Given the description of an element on the screen output the (x, y) to click on. 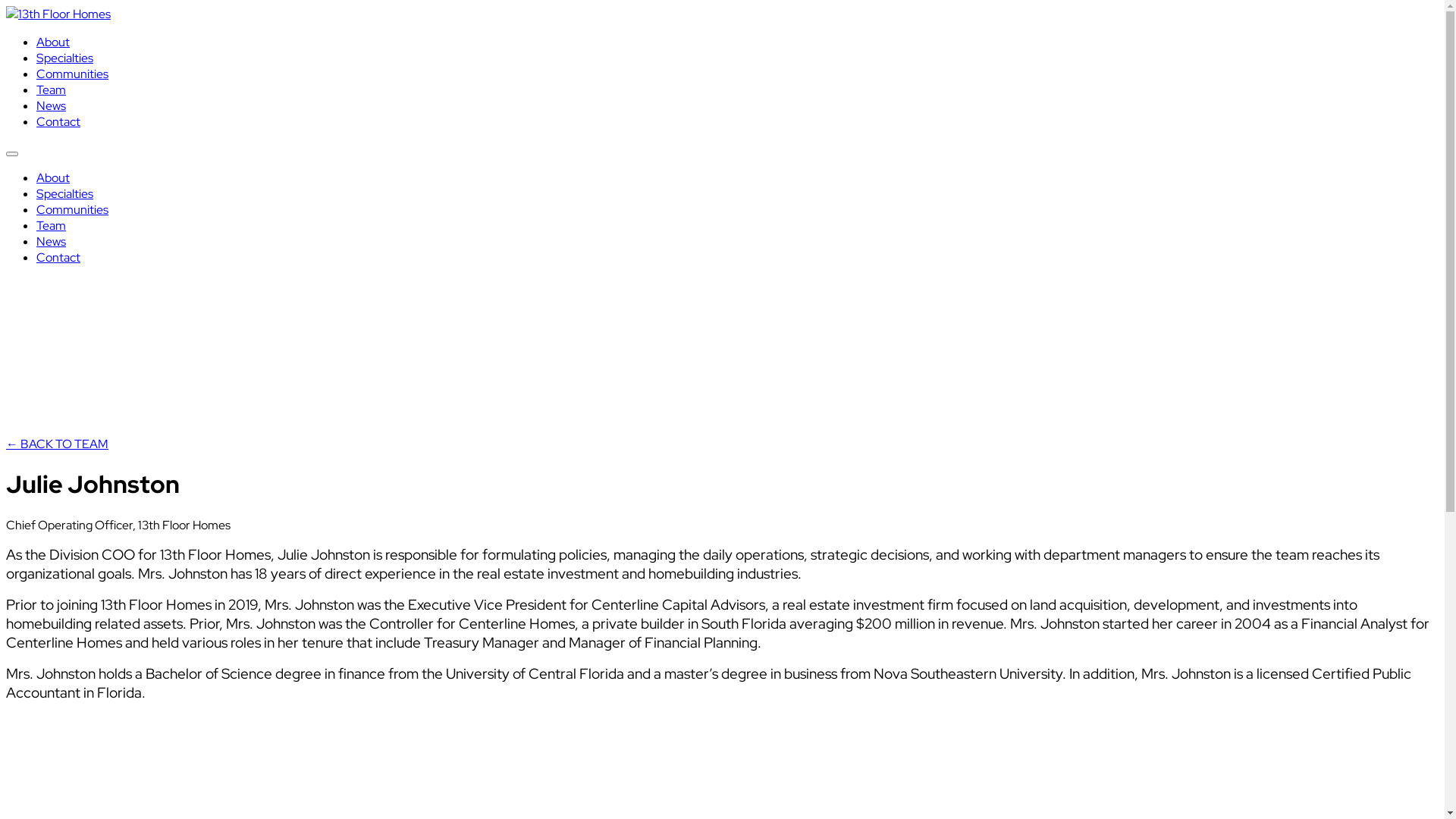
Team Element type: text (50, 225)
News Element type: text (50, 105)
Specialties Element type: text (64, 193)
Specialties Element type: text (64, 57)
News Element type: text (50, 241)
About Element type: text (52, 177)
Contact Element type: text (58, 121)
Communities Element type: text (72, 73)
Communities Element type: text (72, 209)
Contact Element type: text (58, 257)
About Element type: text (52, 42)
Team Element type: text (50, 89)
